Given the description of an element on the screen output the (x, y) to click on. 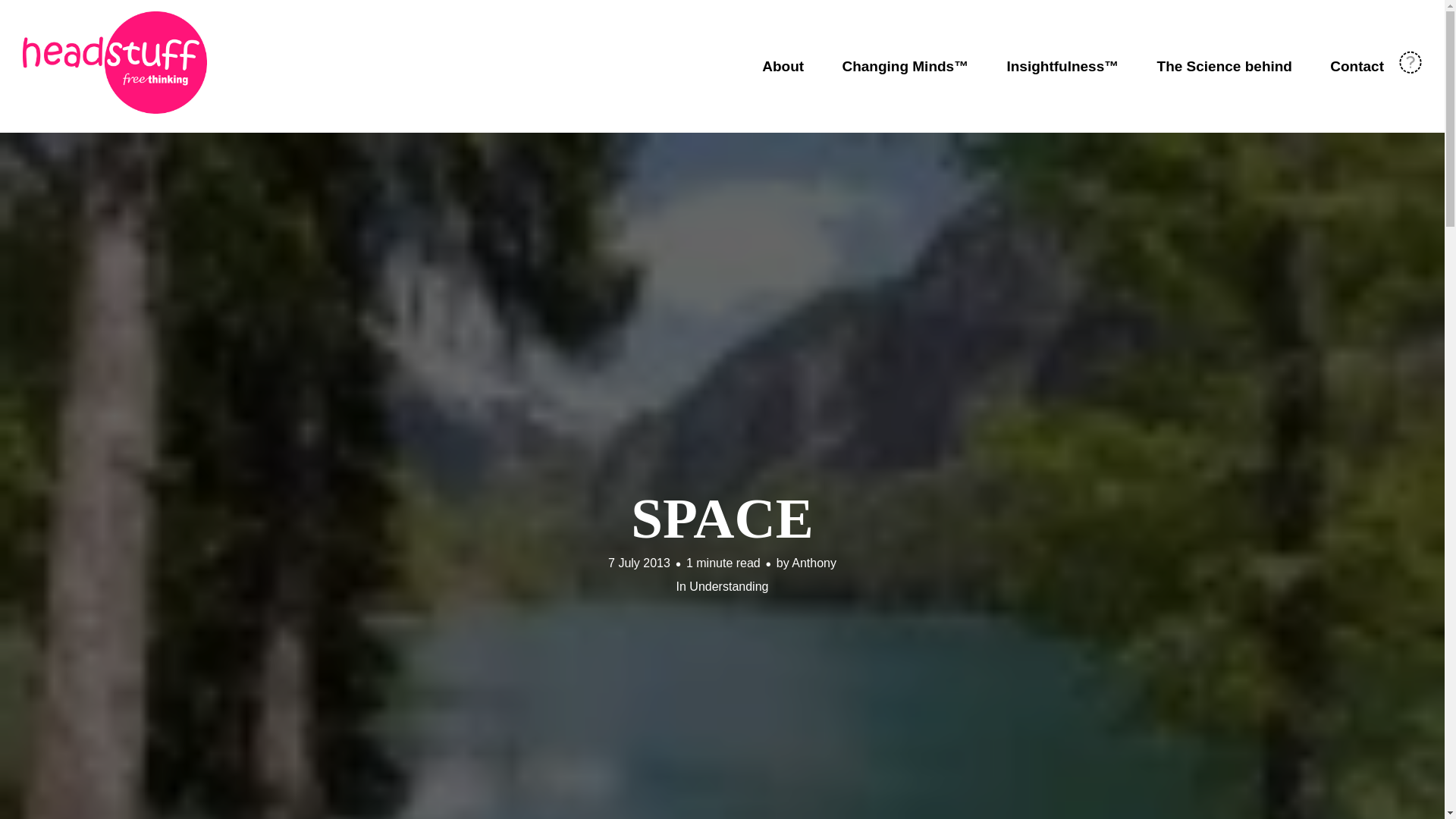
Contact (1357, 66)
Understanding (728, 585)
About (782, 66)
Home (115, 62)
7 July 2013 (638, 562)
The Science behind (1224, 66)
12:04 pm (638, 562)
Anthony (813, 562)
